Given the description of an element on the screen output the (x, y) to click on. 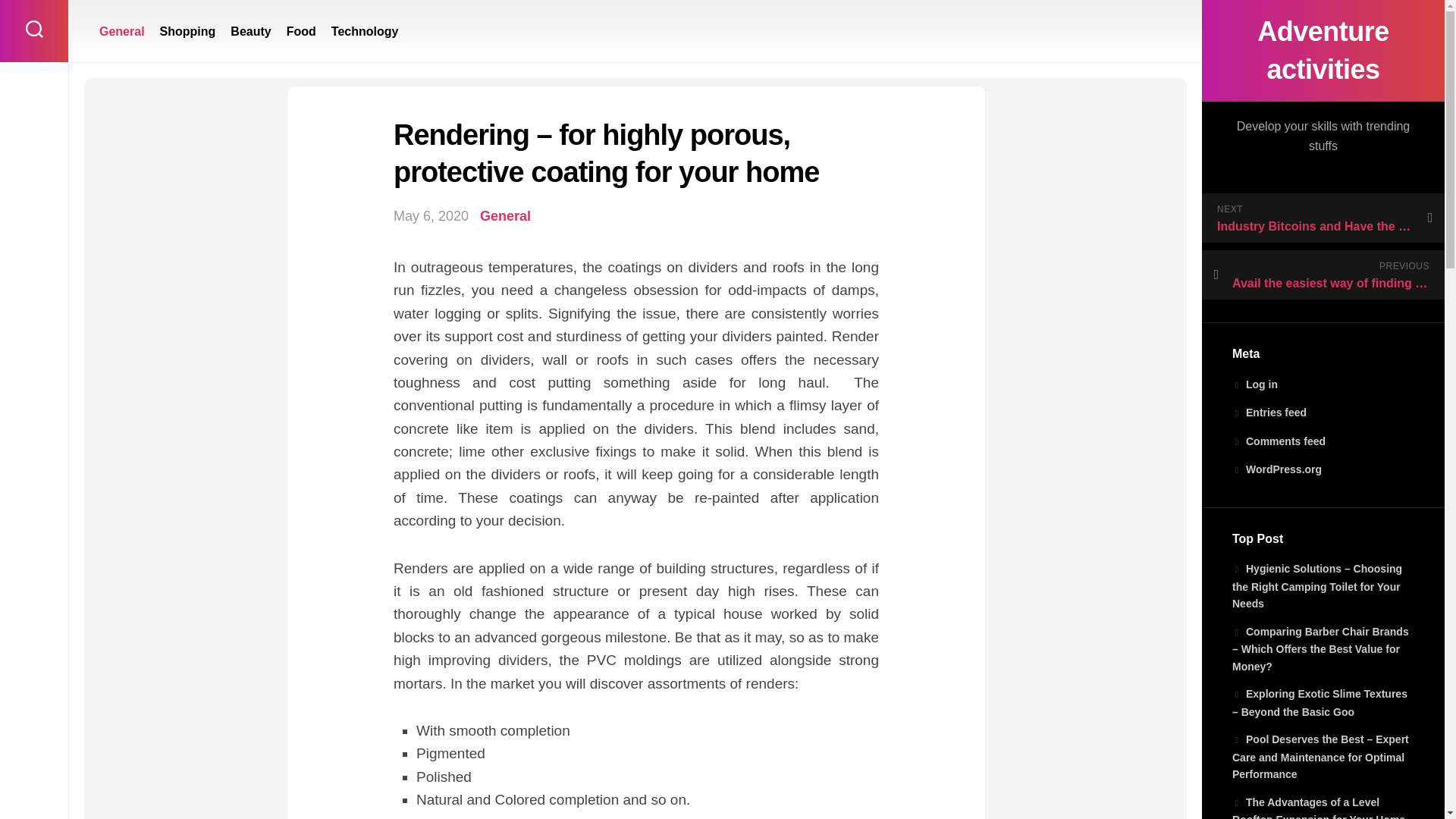
Entries feed (1268, 412)
Adventure activities (1322, 50)
WordPress.org (1276, 469)
Comments feed (1277, 440)
The Advantages of a Level Rooftop Expansion for Your Home (1318, 807)
Log in (1254, 384)
